Given the description of an element on the screen output the (x, y) to click on. 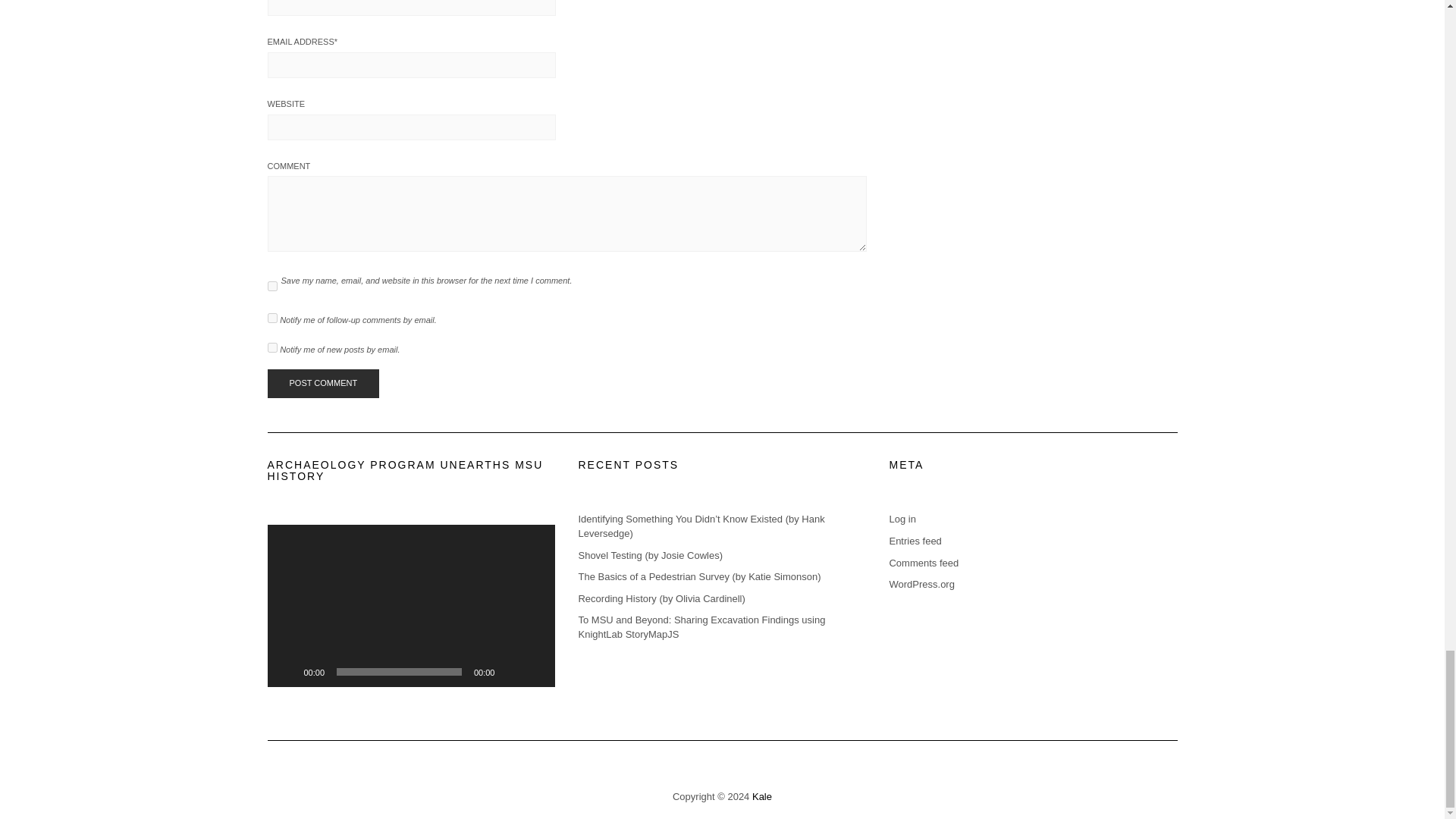
Play (286, 671)
subscribe (271, 317)
yes (271, 286)
Fullscreen (535, 671)
Post Comment (322, 383)
subscribe (271, 347)
Mute (510, 671)
